Given the description of an element on the screen output the (x, y) to click on. 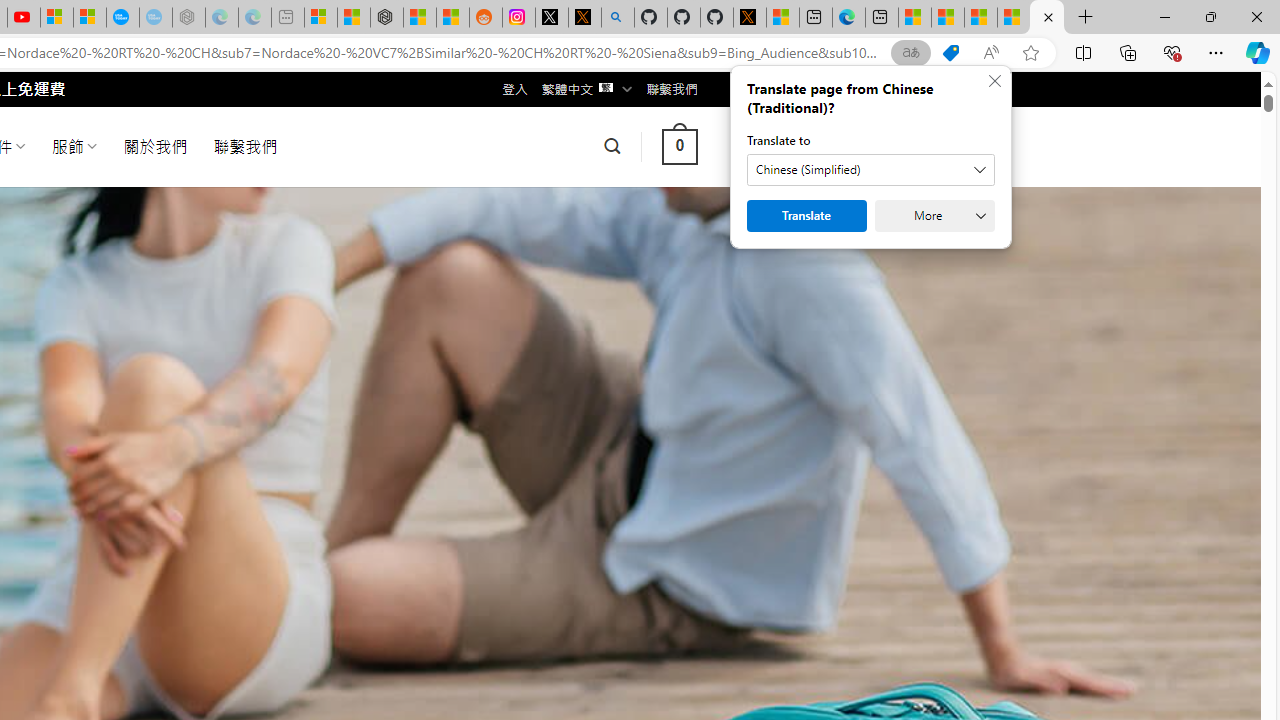
Restore (1210, 16)
Close tab (1048, 16)
Browser essentials (1171, 52)
This site has coupons! Shopping in Microsoft Edge (950, 53)
Nordace - Duffels (387, 17)
Welcome to Microsoft Edge (849, 17)
More (934, 215)
Shanghai, China Weather trends | Microsoft Weather (452, 17)
Split screen (1083, 52)
Show translate options (910, 53)
Nordace - Summer Adventures 2024 (1046, 17)
